Given the description of an element on the screen output the (x, y) to click on. 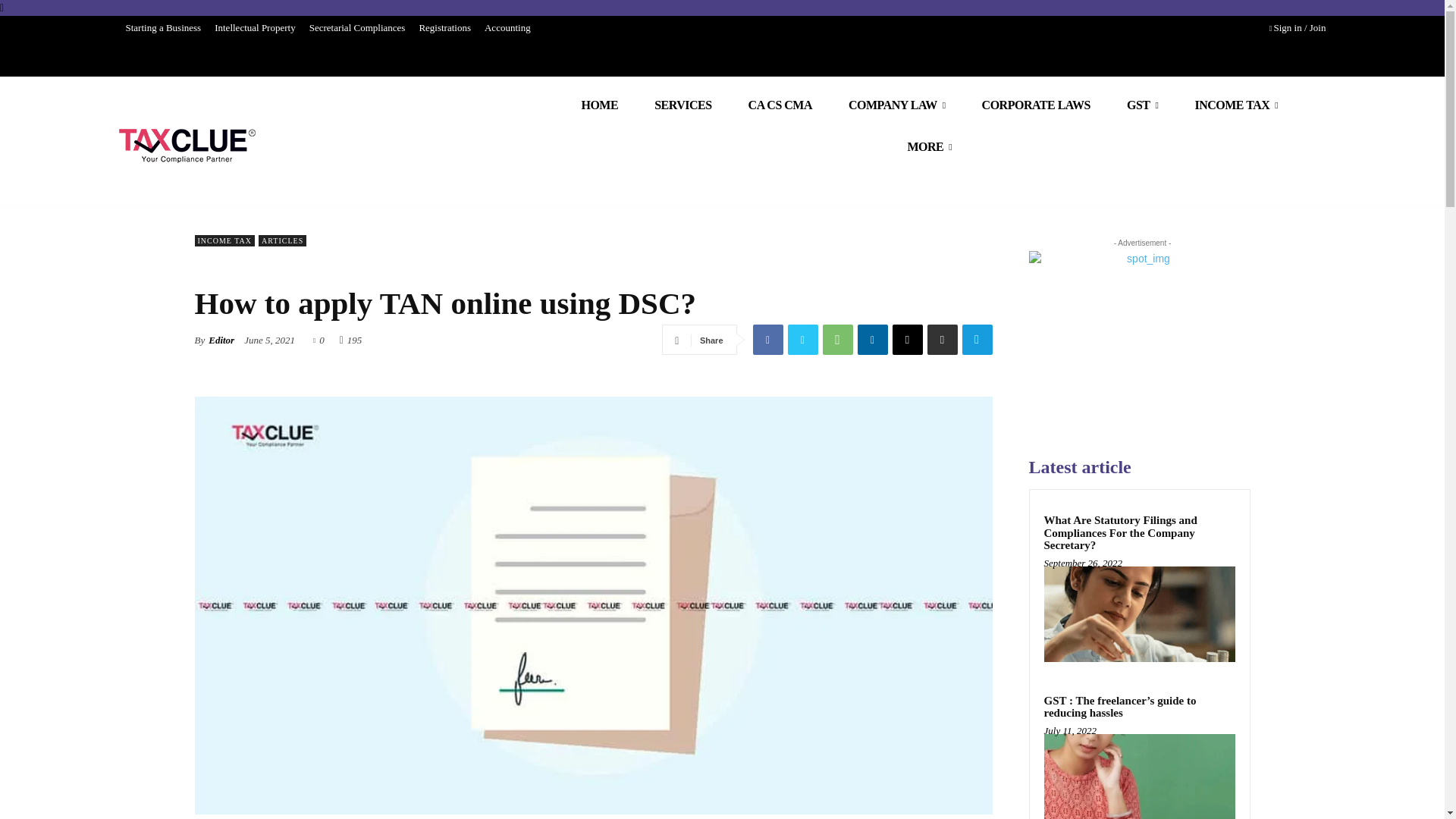
Email (906, 339)
Starting a Business (162, 27)
HOME (599, 105)
Intellectual Property (255, 27)
Accounting (507, 27)
CA CS CMA (779, 105)
Linkedin (871, 339)
WhatsApp (836, 339)
Facebook (767, 339)
SERVICES (682, 105)
Registrations (444, 27)
Twitter (801, 339)
Print (941, 339)
Secretarial Compliances (357, 27)
